Given the description of an element on the screen output the (x, y) to click on. 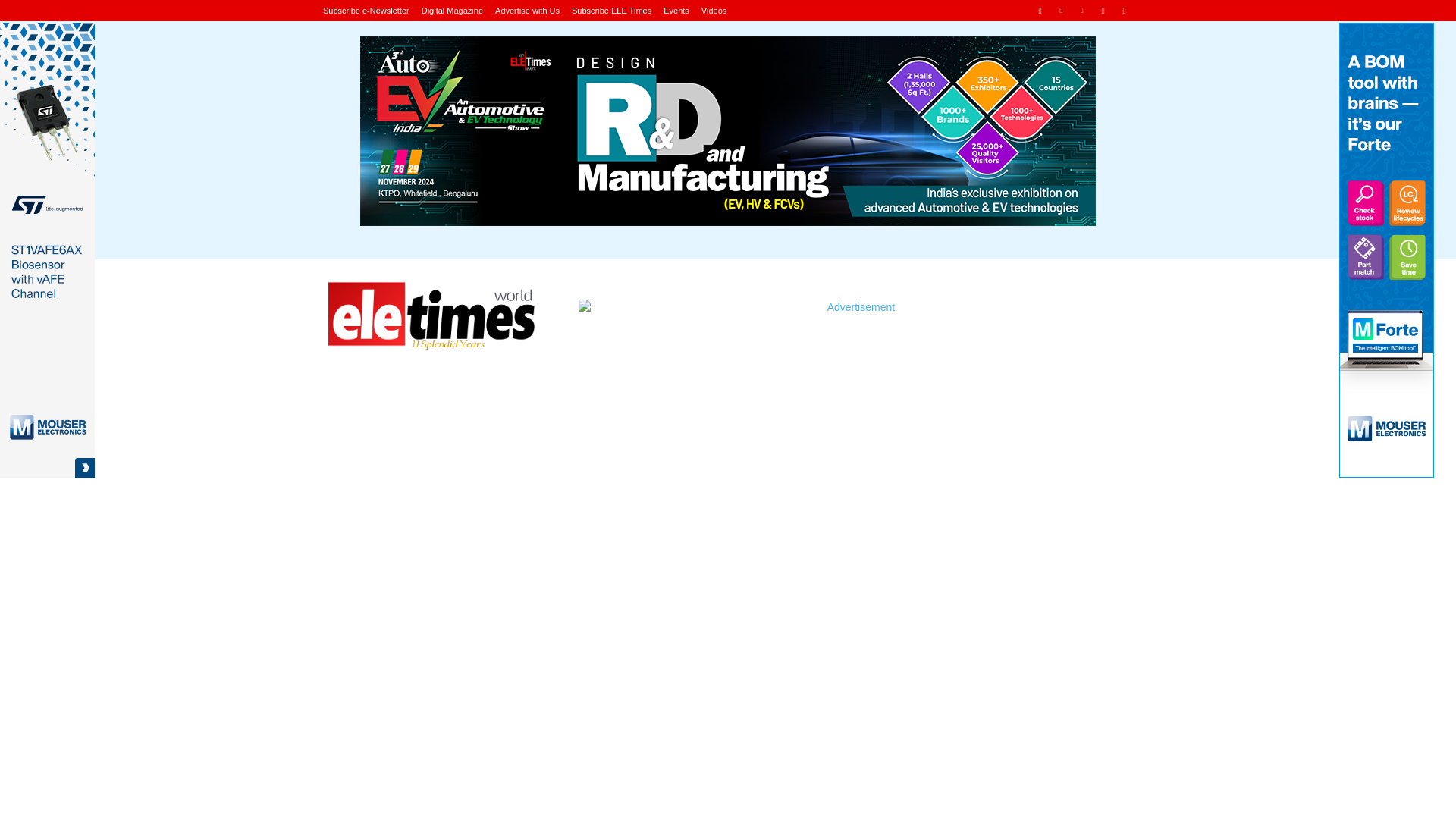
Tumblr (1103, 9)
Facebook (1039, 9)
Twitter (1123, 9)
Linkedin (1061, 9)
Pinterest (1082, 9)
